Given the description of an element on the screen output the (x, y) to click on. 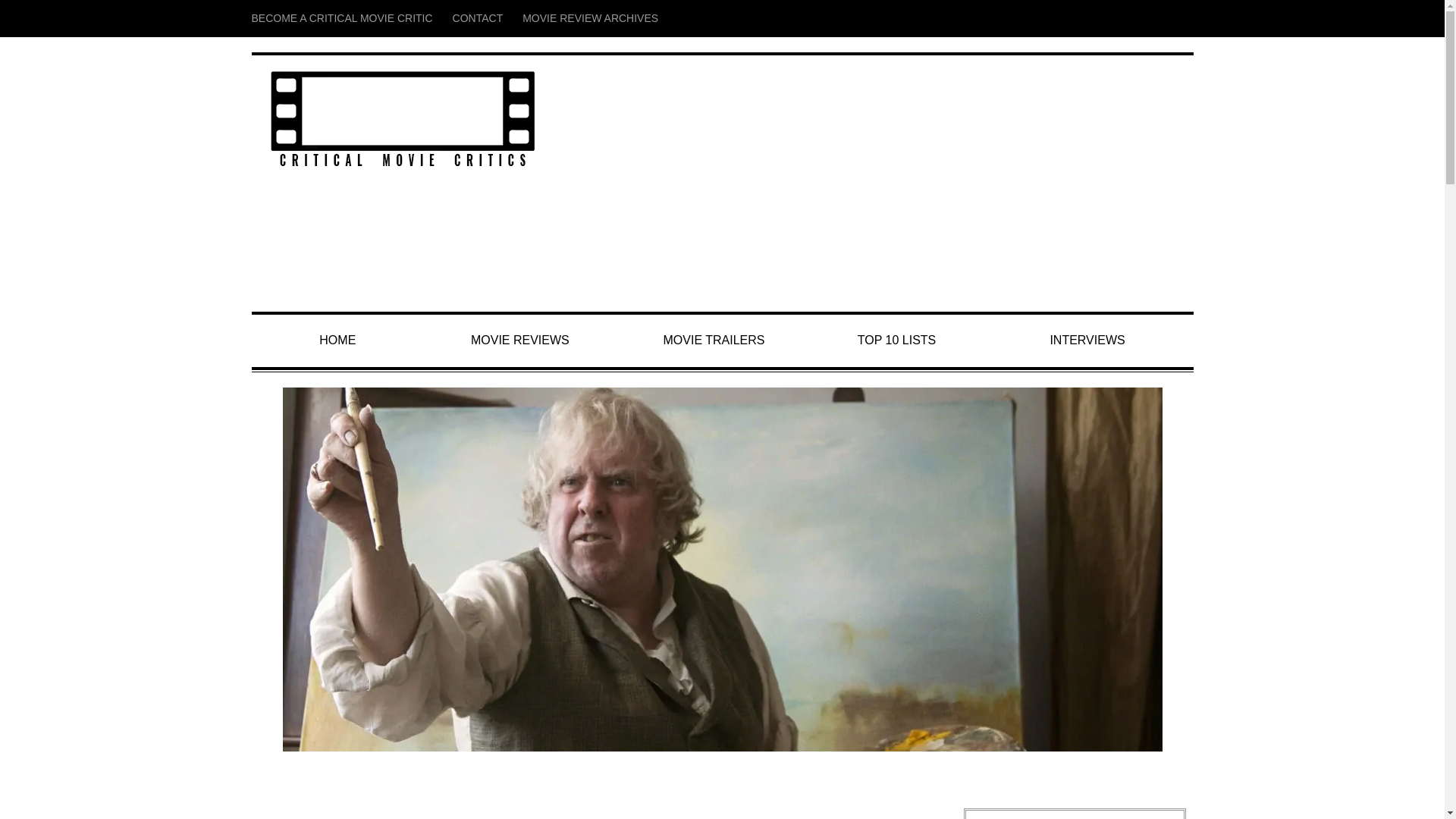
HOME (338, 340)
Contact The Critical Movie Critics (478, 18)
Latest Movie Reviews (519, 340)
TOP 10 LISTS (895, 340)
INTERVIEWS (1087, 340)
Archives of Movie Reviews (589, 18)
Follow us on Twitter (1152, 9)
Latest Movie Trailers (713, 340)
Homepage (338, 340)
MOVIE REVIEWS (519, 340)
BECOME A CRITICAL MOVIE CRITIC (346, 11)
Advertisement (881, 183)
Go back to home (402, 120)
Latest Media Interviews (1087, 340)
Feed RSS (1113, 9)
